Given the description of an element on the screen output the (x, y) to click on. 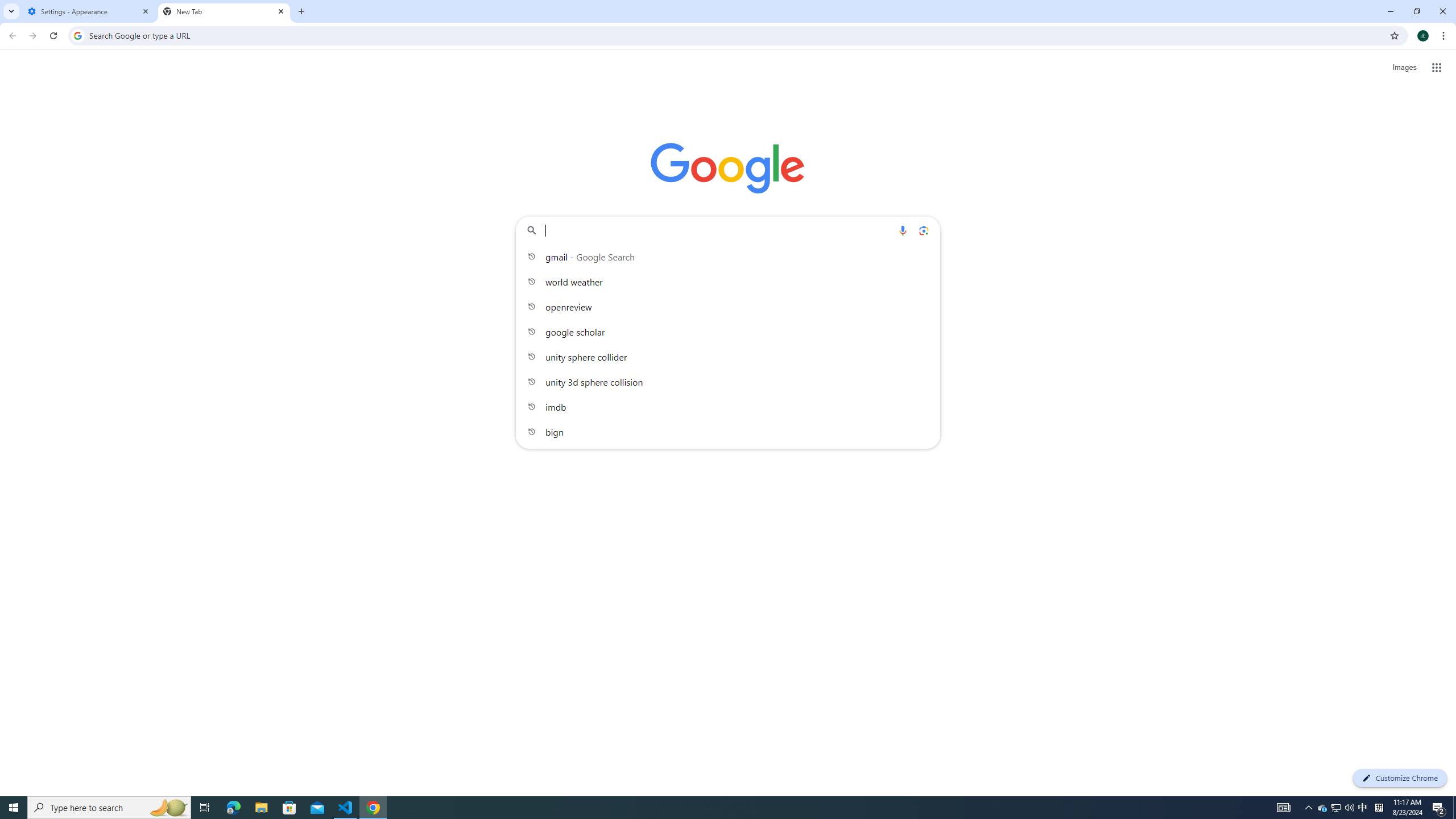
Settings - Appearance (88, 11)
More actions for Web Store shortcut (814, 264)
